Given the description of an element on the screen output the (x, y) to click on. 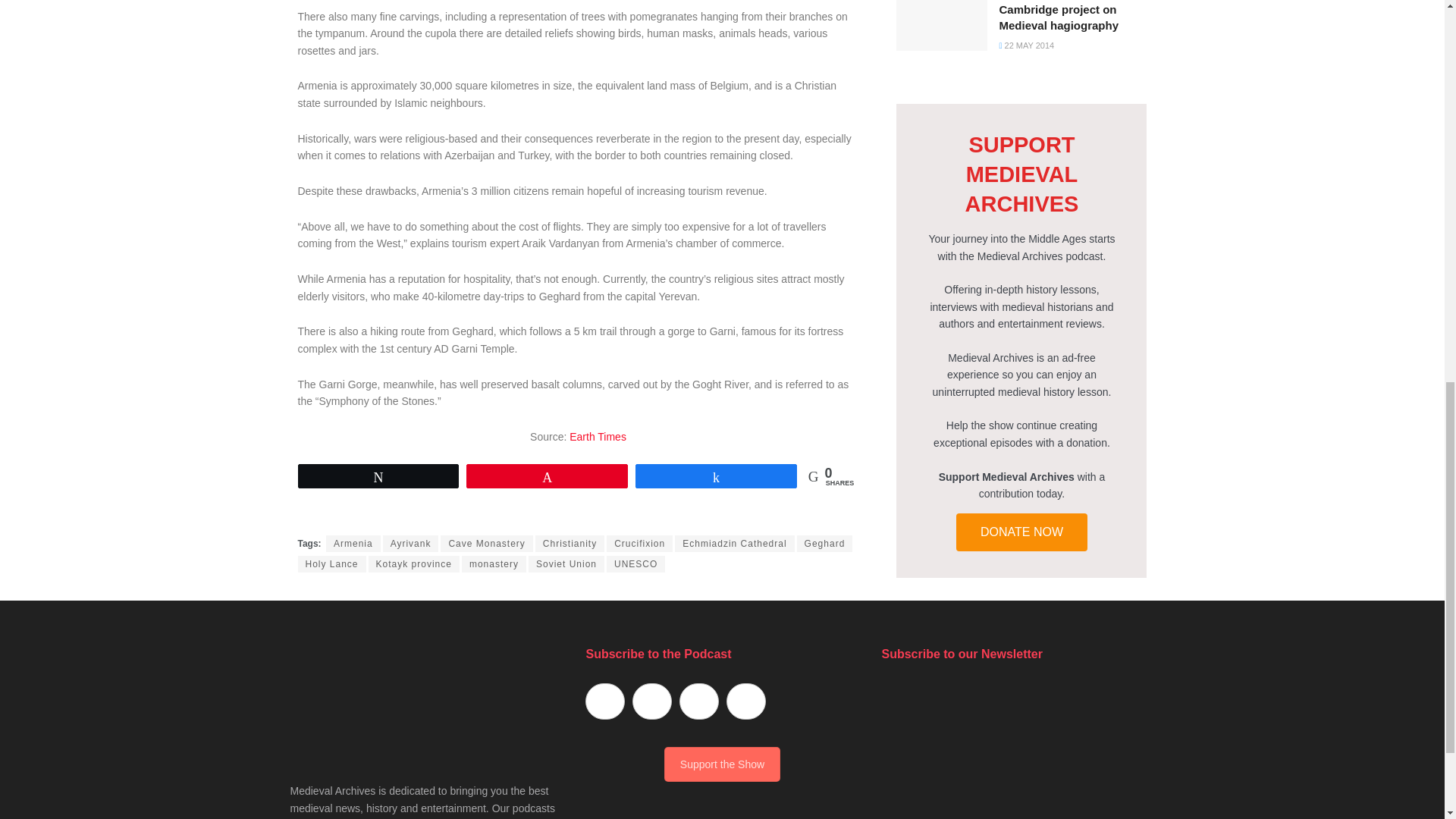
Subscribe on Apple Podcasts (604, 701)
Subscribe by Email (699, 701)
Subscribe on Android (651, 701)
Subscribe via RSS (745, 701)
